Given the description of an element on the screen output the (x, y) to click on. 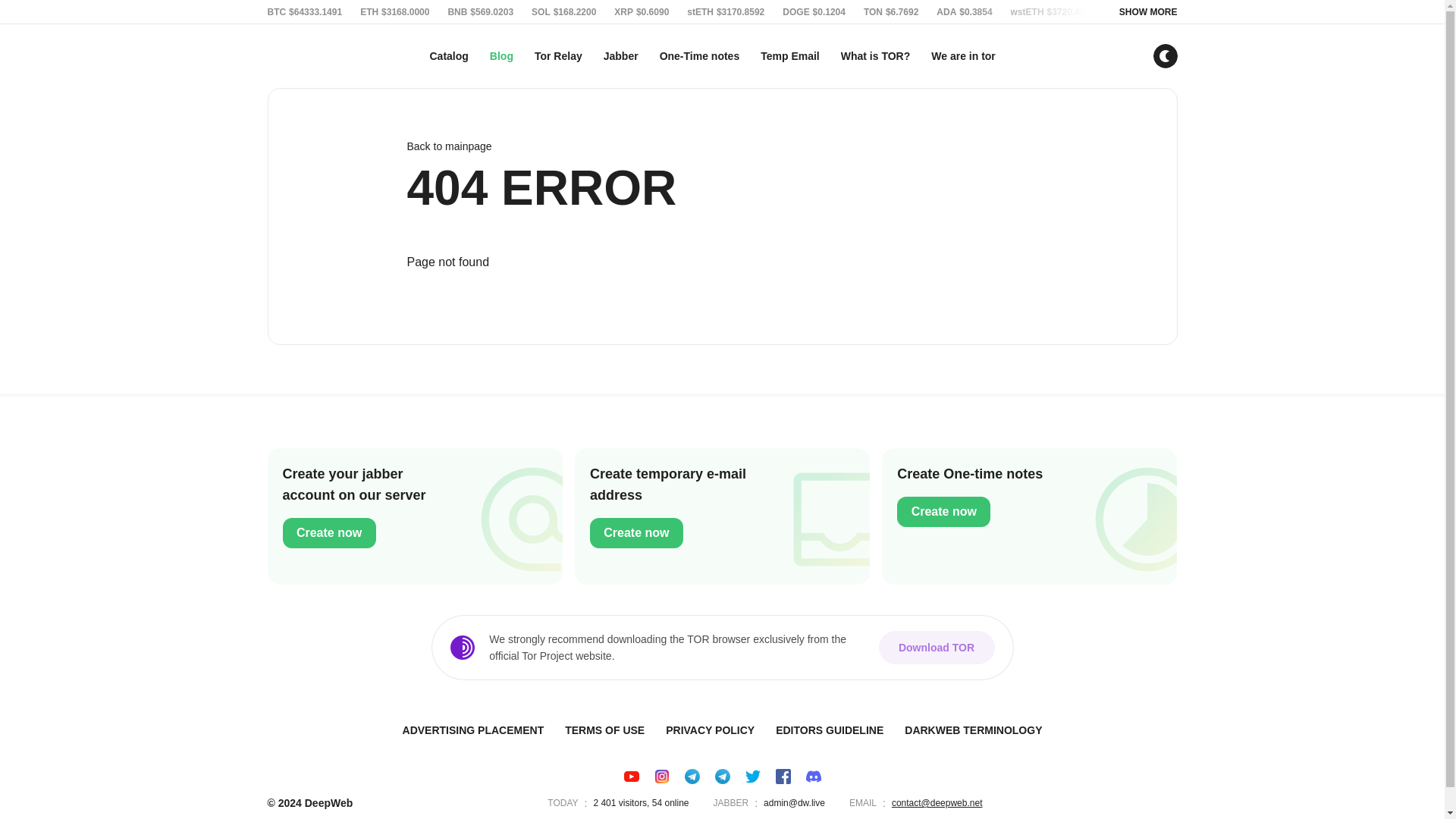
Discord (813, 776)
Jabber (620, 56)
Back to mainpage (721, 146)
Tor Relay (558, 56)
Temp Email (789, 56)
Facebook (782, 776)
Instagram (660, 776)
Twitter (752, 776)
What is TOR? (875, 56)
Catalog (449, 56)
EDITORS GUIDELINE (722, 515)
We are in tor (829, 730)
Blog (963, 56)
TERMS OF USE (501, 56)
